Given the description of an element on the screen output the (x, y) to click on. 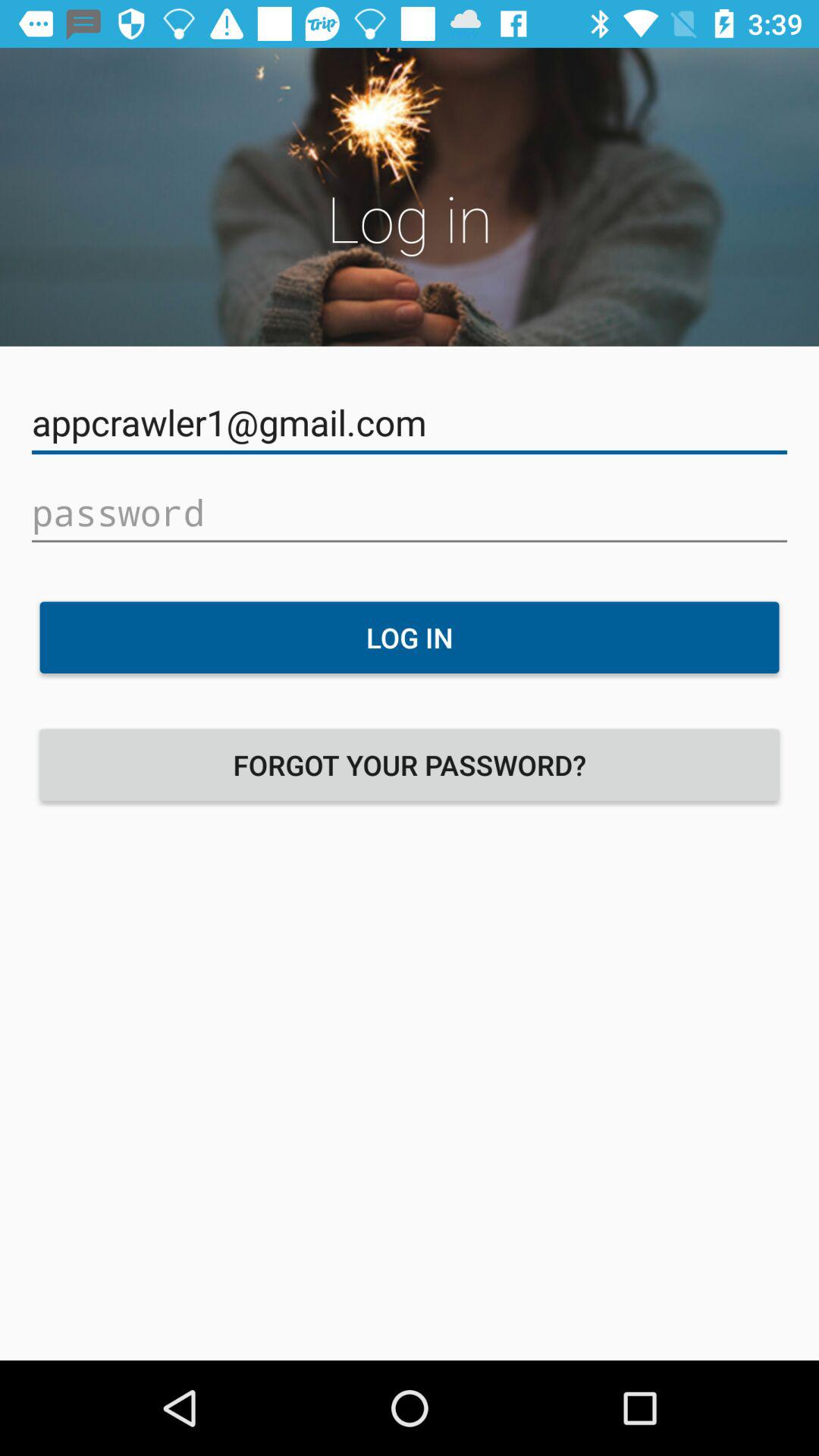
swipe to the forgot your password? (409, 764)
